Given the description of an element on the screen output the (x, y) to click on. 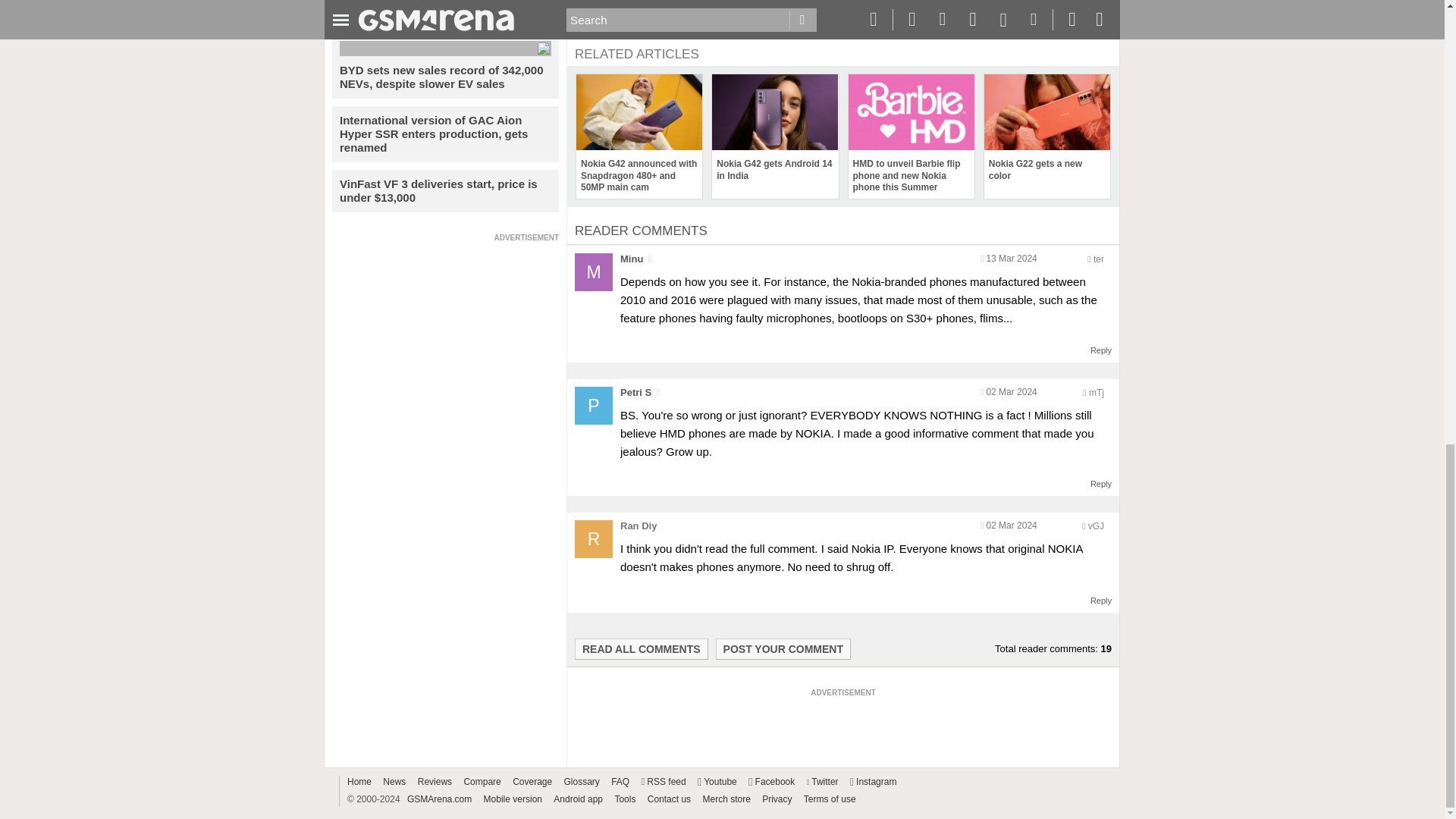
Reply to this post (1101, 600)
Encoded anonymized location (1098, 258)
Reply to this post (1101, 483)
Encoded anonymized location (1095, 525)
Reply to this post (1101, 349)
Encoded anonymized location (1096, 392)
